Given the description of an element on the screen output the (x, y) to click on. 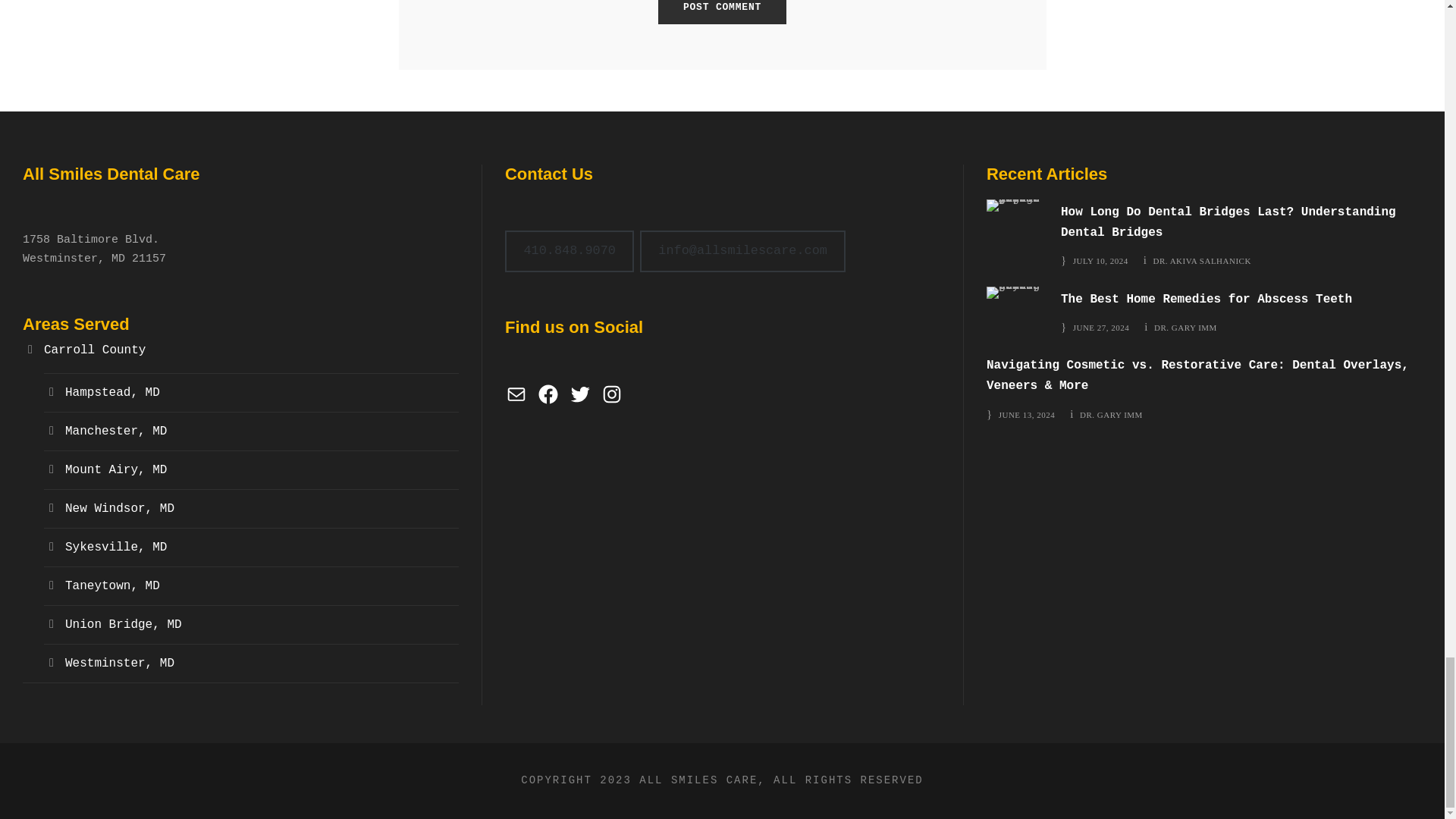
Posts by Dr. Gary Imm (1111, 414)
Posts by Dr. Gary Imm (1185, 327)
Post Comment (722, 12)
Posts by Dr. Akiva Salhanick (1201, 260)
